Given the description of an element on the screen output the (x, y) to click on. 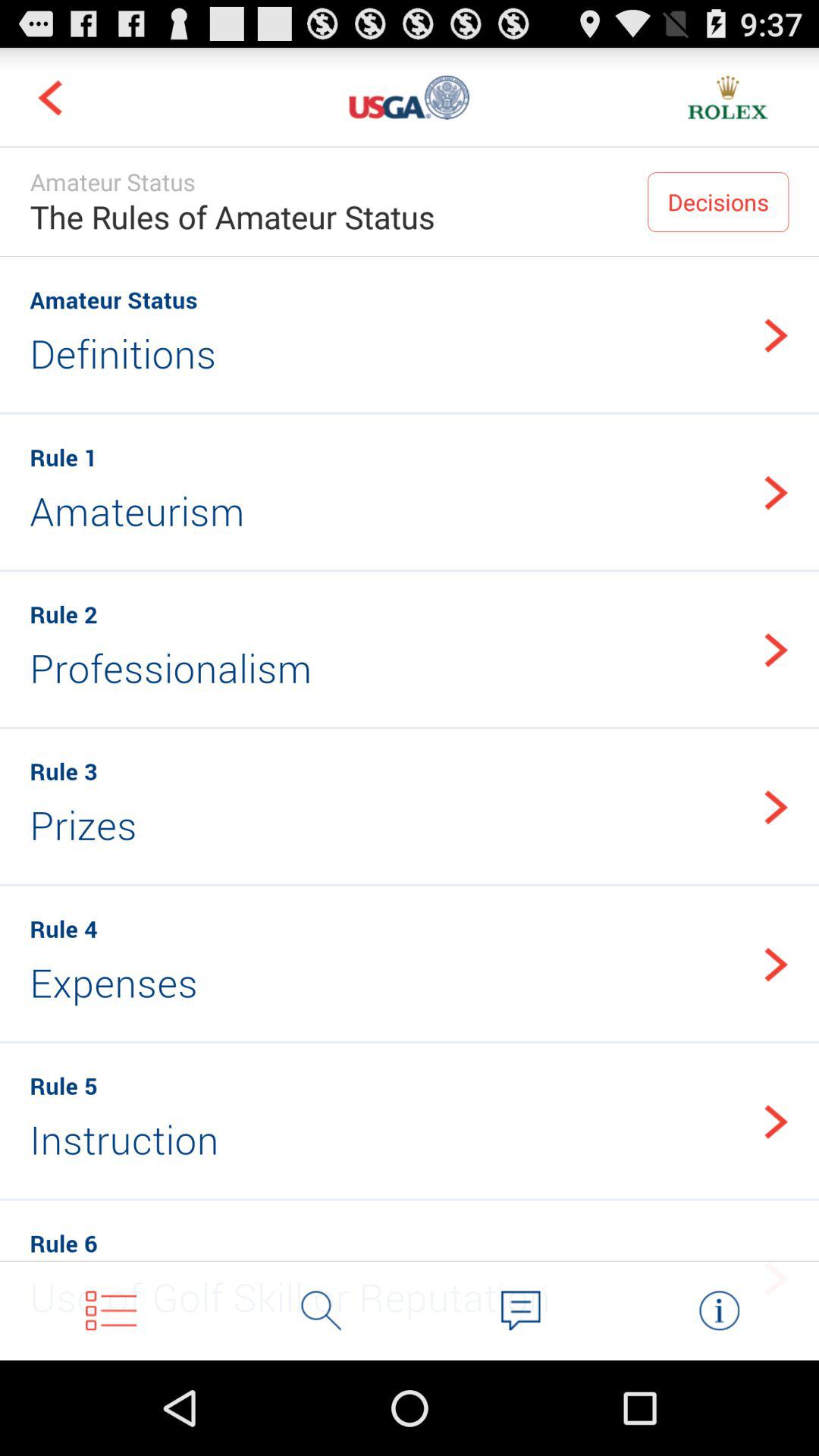
opens search (321, 1310)
